Given the description of an element on the screen output the (x, y) to click on. 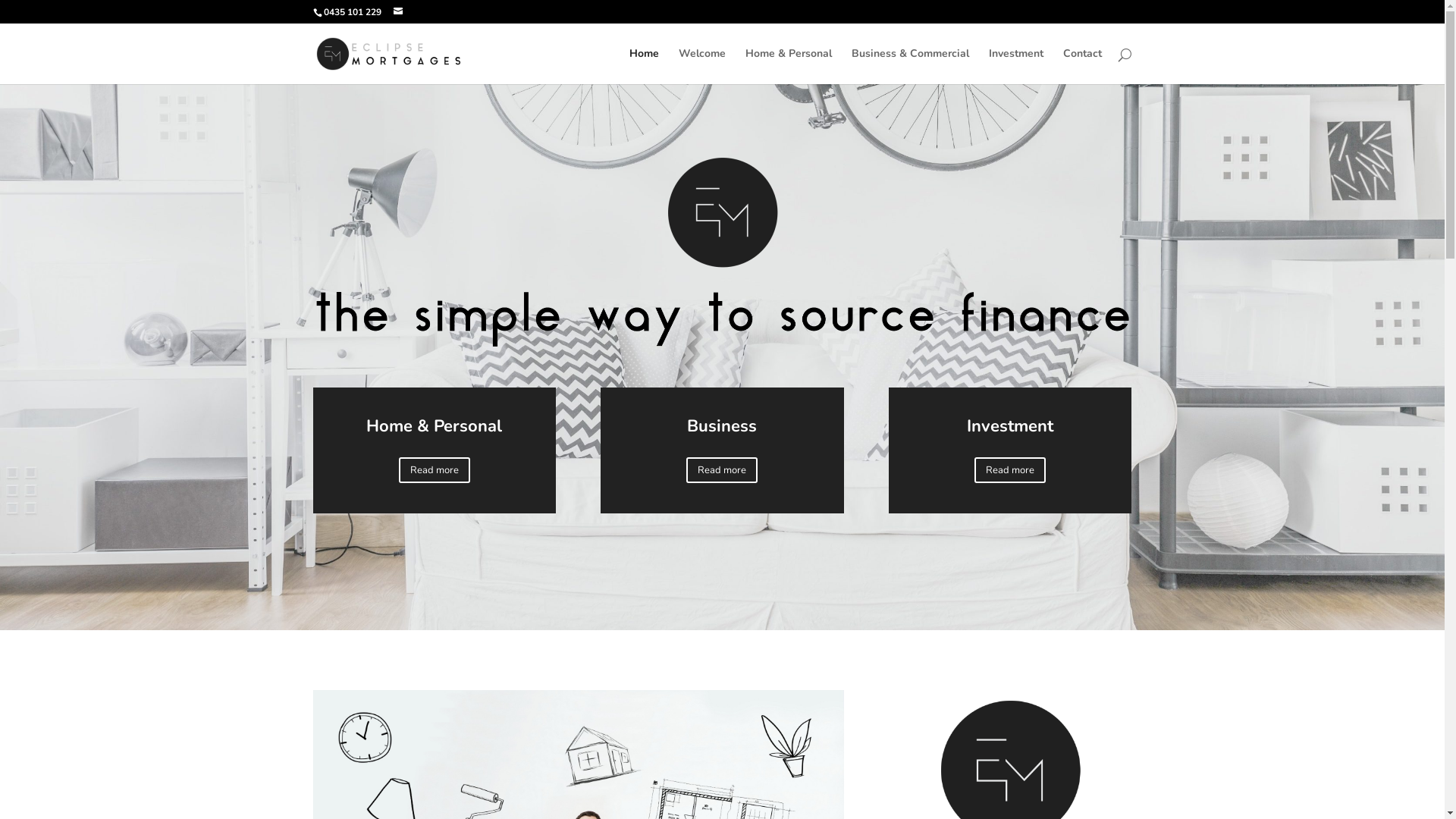
Business & Commercial Element type: text (909, 66)
Read more Element type: text (434, 470)
Investment Element type: text (1015, 66)
Welcome Element type: text (700, 66)
Contact Element type: text (1082, 66)
Read more Element type: text (721, 470)
Read more Element type: text (1009, 470)
Home & Personal Element type: text (787, 66)
Home Element type: text (643, 66)
